Given the description of an element on the screen output the (x, y) to click on. 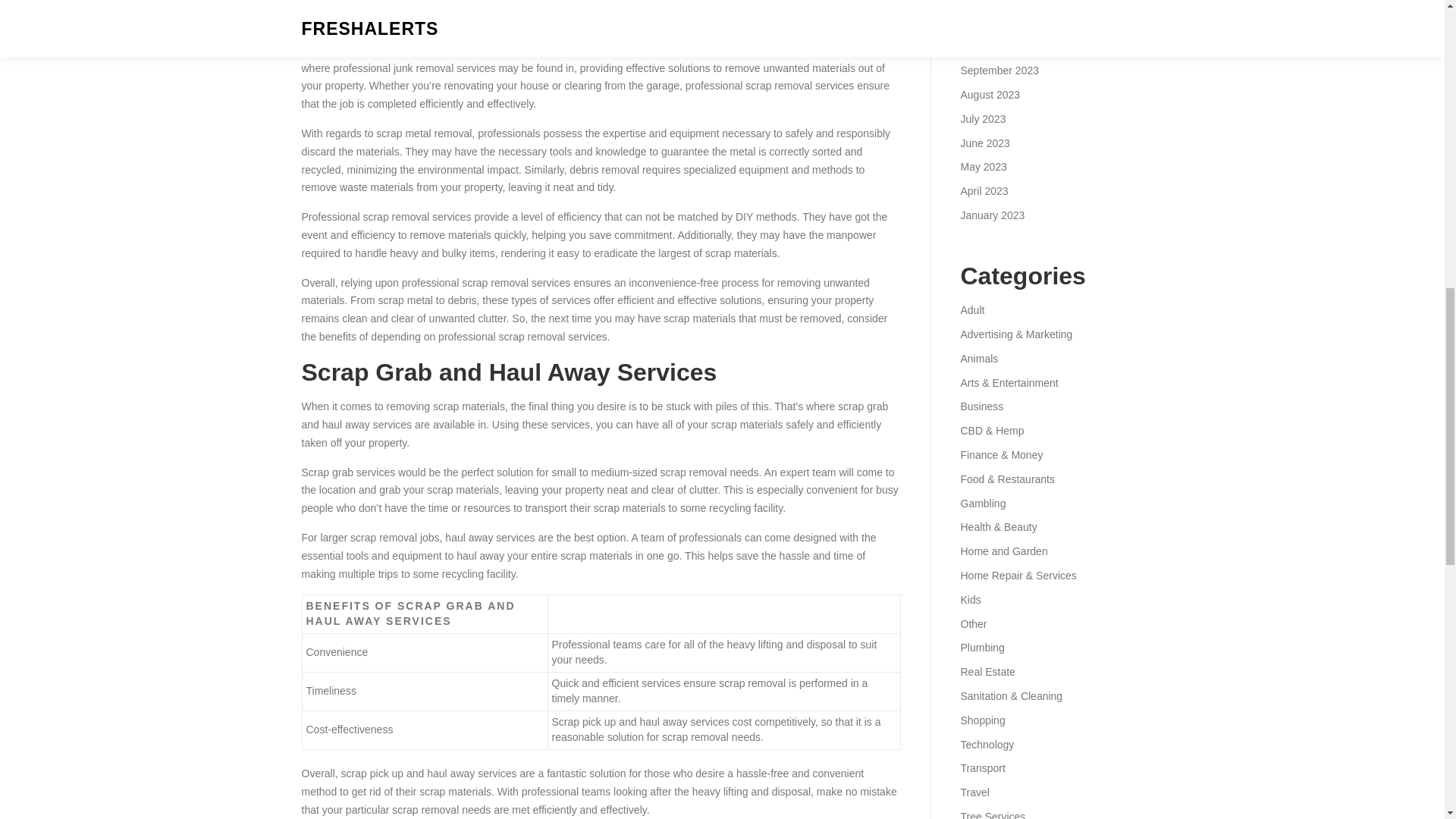
May 2023 (982, 166)
June 2023 (984, 143)
August 2023 (989, 94)
April 2023 (983, 191)
November 2023 (997, 22)
September 2023 (999, 70)
July 2023 (982, 119)
Animals (978, 358)
December 2023 (997, 2)
January 2023 (992, 215)
